Given the description of an element on the screen output the (x, y) to click on. 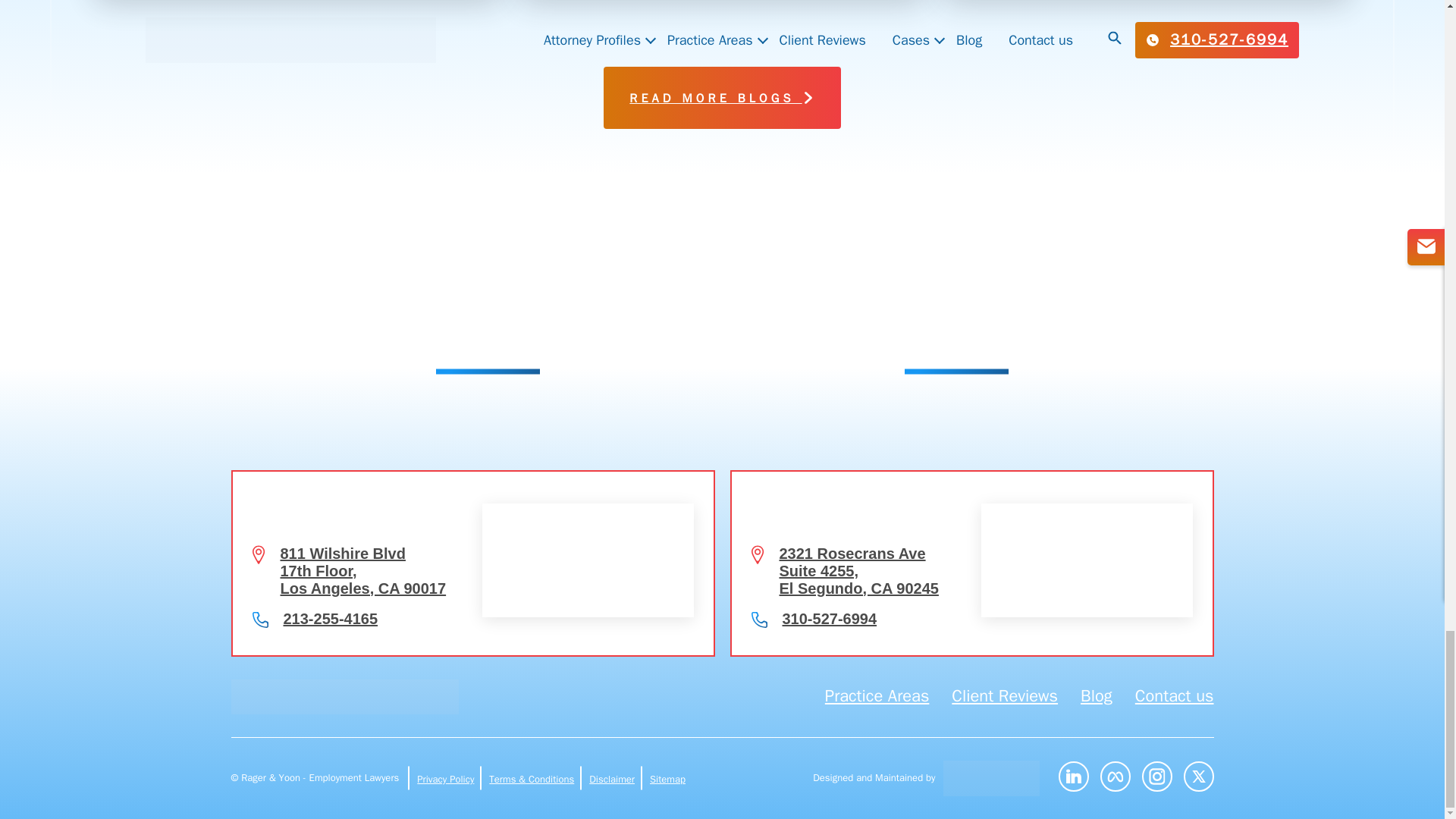
310-527-6994 (830, 619)
Facebook (1114, 776)
Instagram (1156, 776)
213-255-4165 (330, 619)
LinkedIn (1073, 776)
rager-white-logo (344, 696)
